Given the description of an element on the screen output the (x, y) to click on. 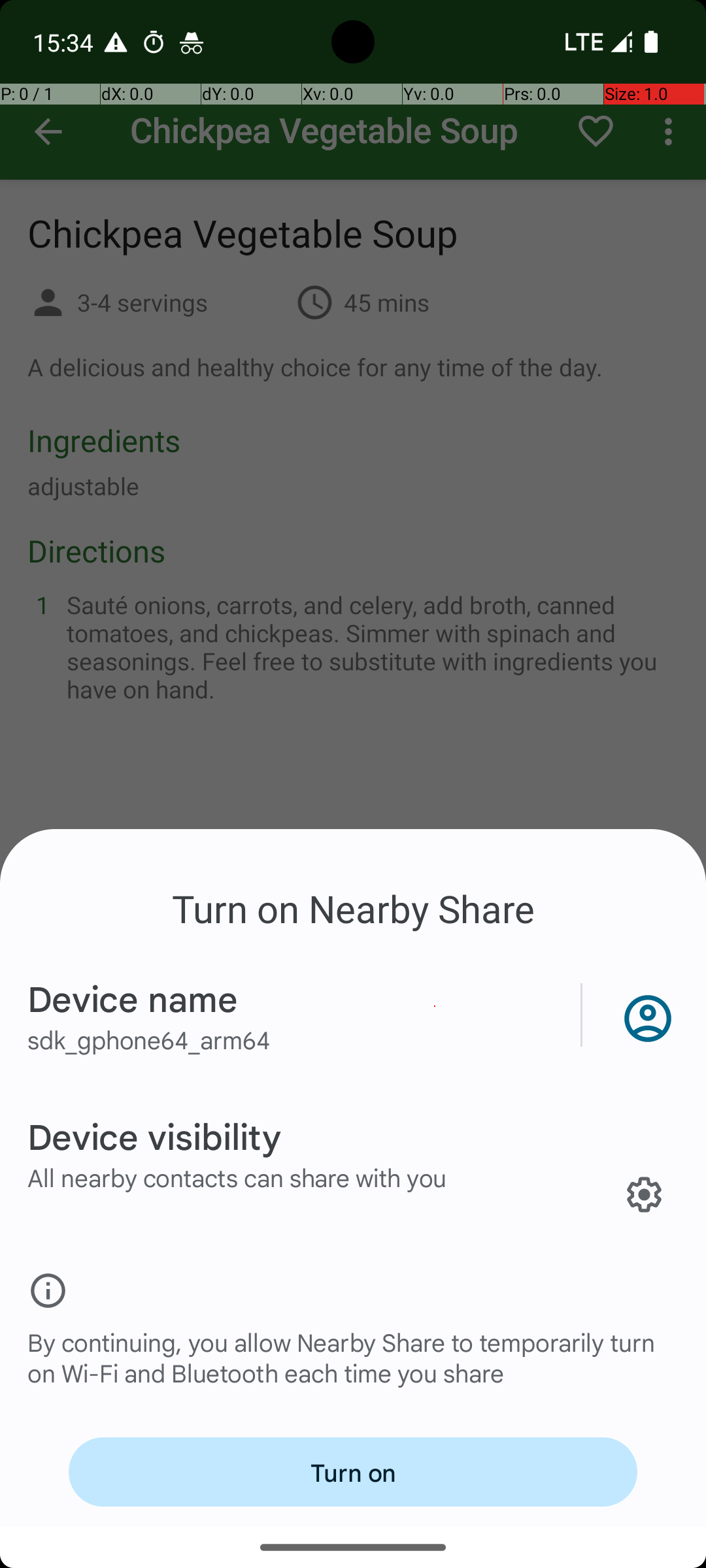
Turn on Nearby Share Element type: android.widget.TextView (353, 908)
No account found Element type: android.widget.FrameLayout (644, 1014)
By continuing, you allow Nearby Share to temporarily turn on Wi-Fi and Bluetooth each time you share Element type: android.widget.TextView (353, 1370)
Turn on Element type: android.widget.Button (352, 1471)
Device name Element type: android.widget.TextView (132, 997)
Device visibility Element type: android.widget.TextView (154, 1135)
All nearby contacts can share with you Element type: android.widget.TextView (237, 1177)
